Given the description of an element on the screen output the (x, y) to click on. 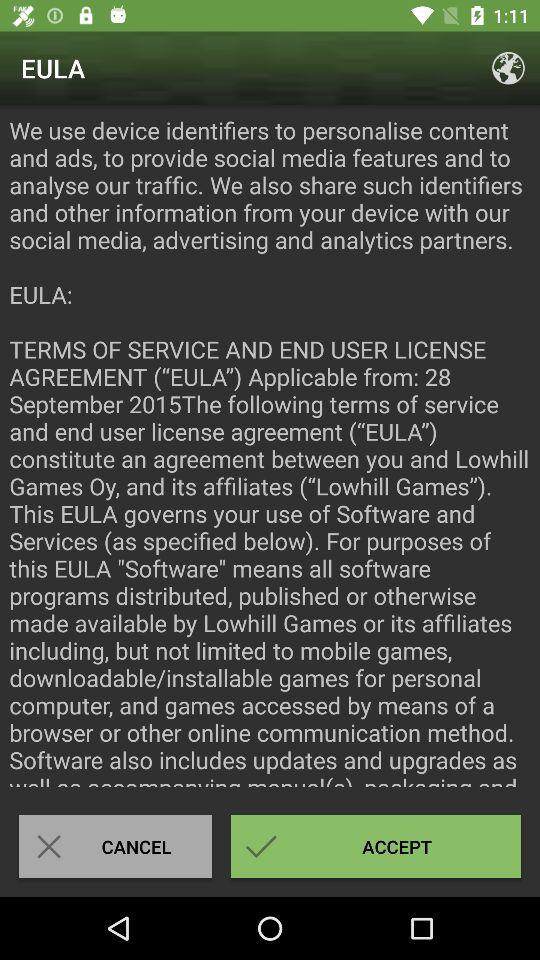
tap the icon at the bottom left corner (115, 846)
